Given the description of an element on the screen output the (x, y) to click on. 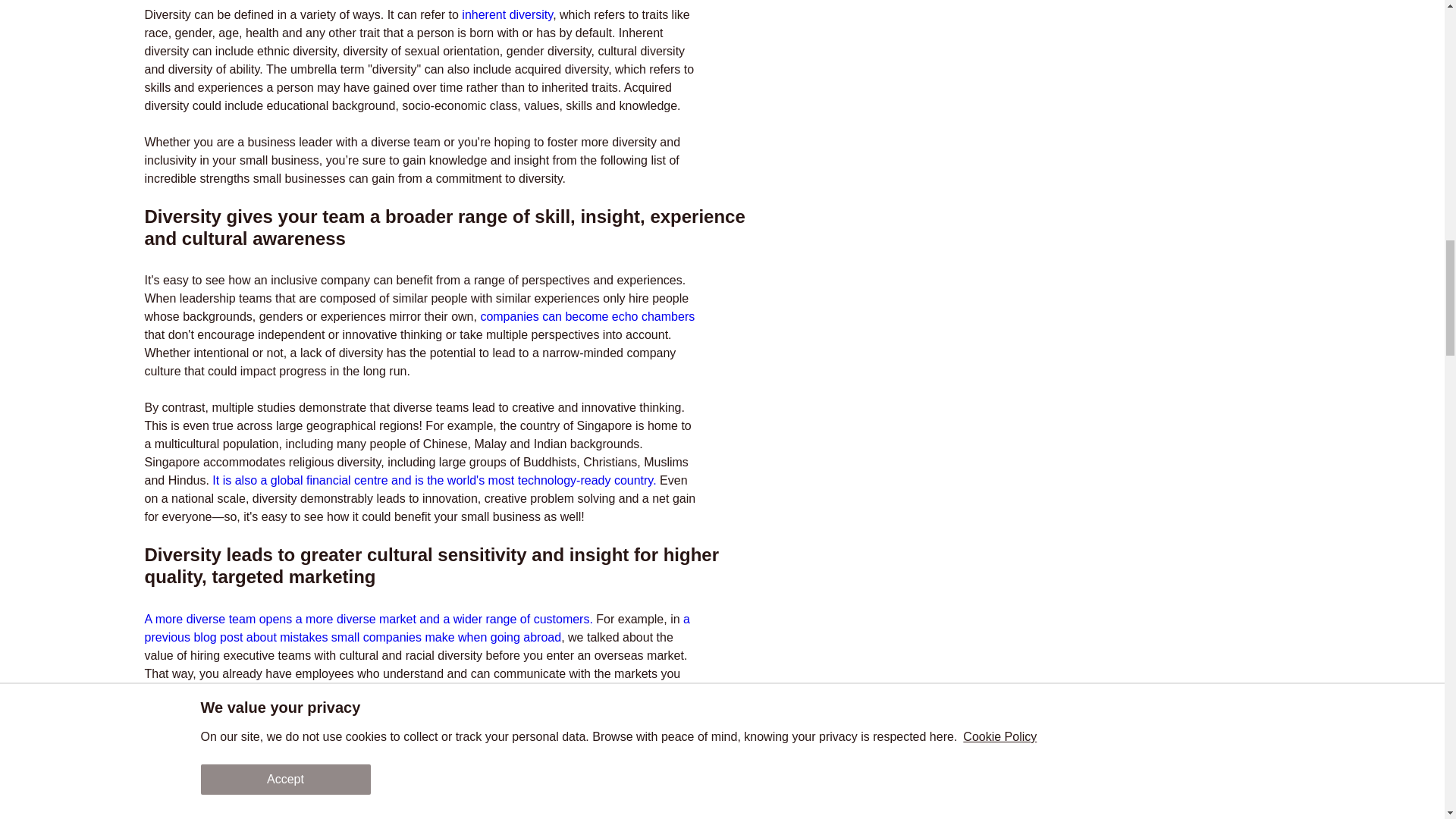
companies can become echo chambers (587, 316)
inherent diversity (507, 14)
some content (1135, 36)
